Given the description of an element on the screen output the (x, y) to click on. 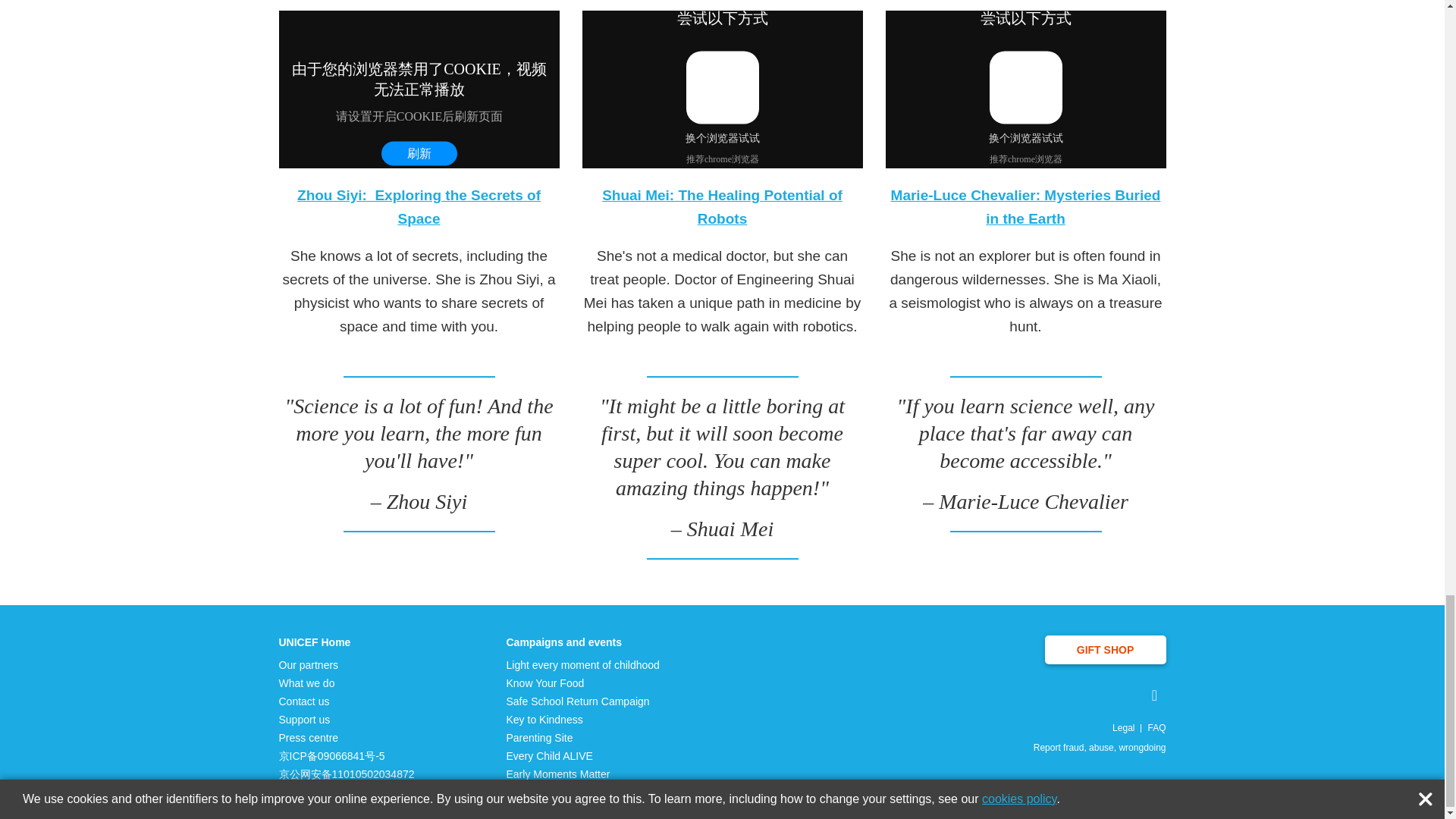
Shuai Mei: The Healing Potential of Robots (722, 206)
UNICEF Home (346, 642)
Marie-Luce Chevalier: Mysteries Buried in the Earth (1025, 206)
What we do (346, 683)
Zhou Siyi:  Exploring the Secrets of Space (418, 206)
Our partners (346, 664)
